Given the description of an element on the screen output the (x, y) to click on. 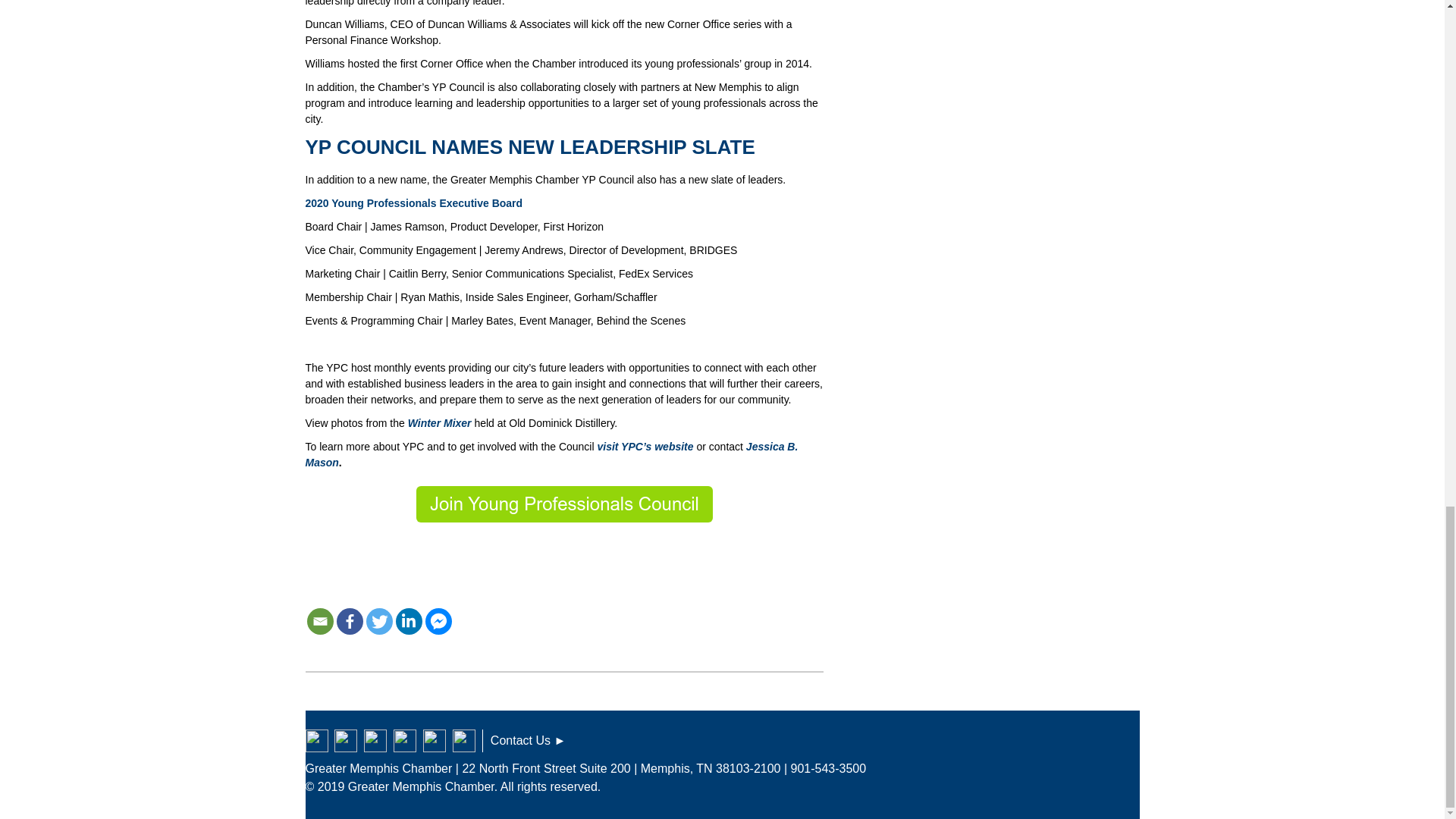
Facebook (349, 621)
Linkedin (409, 621)
Twitter (378, 621)
Facebook Messenger (438, 621)
Email (319, 621)
